Given the description of an element on the screen output the (x, y) to click on. 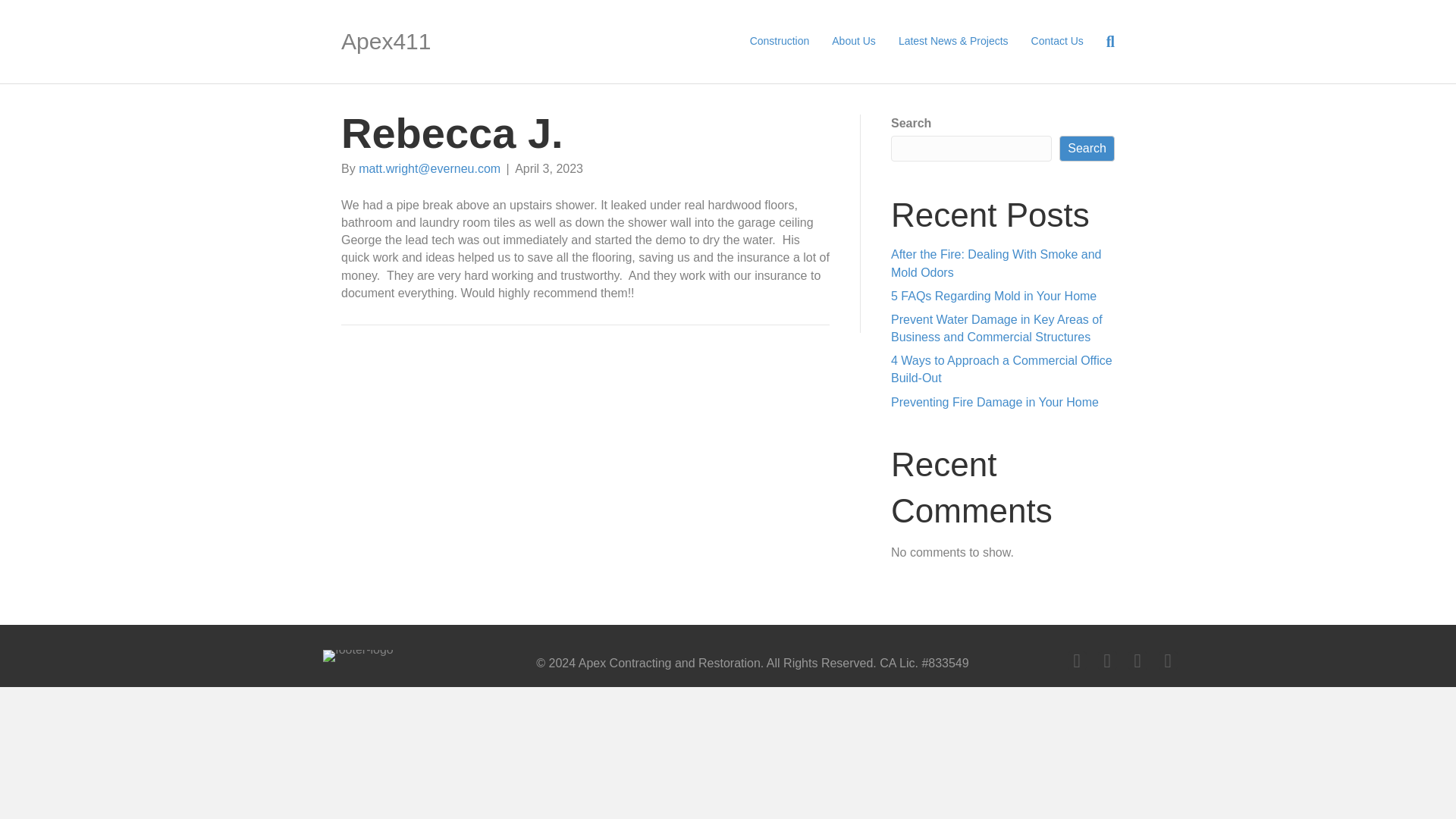
5 FAQs Regarding Mold in Your Home (993, 295)
4 Ways to Approach a Commercial Office Build-Out (1001, 368)
Preventing Fire Damage in Your Home (995, 401)
footer-logo (358, 655)
Construction (779, 41)
About Us (853, 41)
Search (1087, 148)
Contact Us (1057, 41)
After the Fire: Dealing With Smoke and Mold Odors (995, 263)
Apex411 (464, 41)
